Given the description of an element on the screen output the (x, y) to click on. 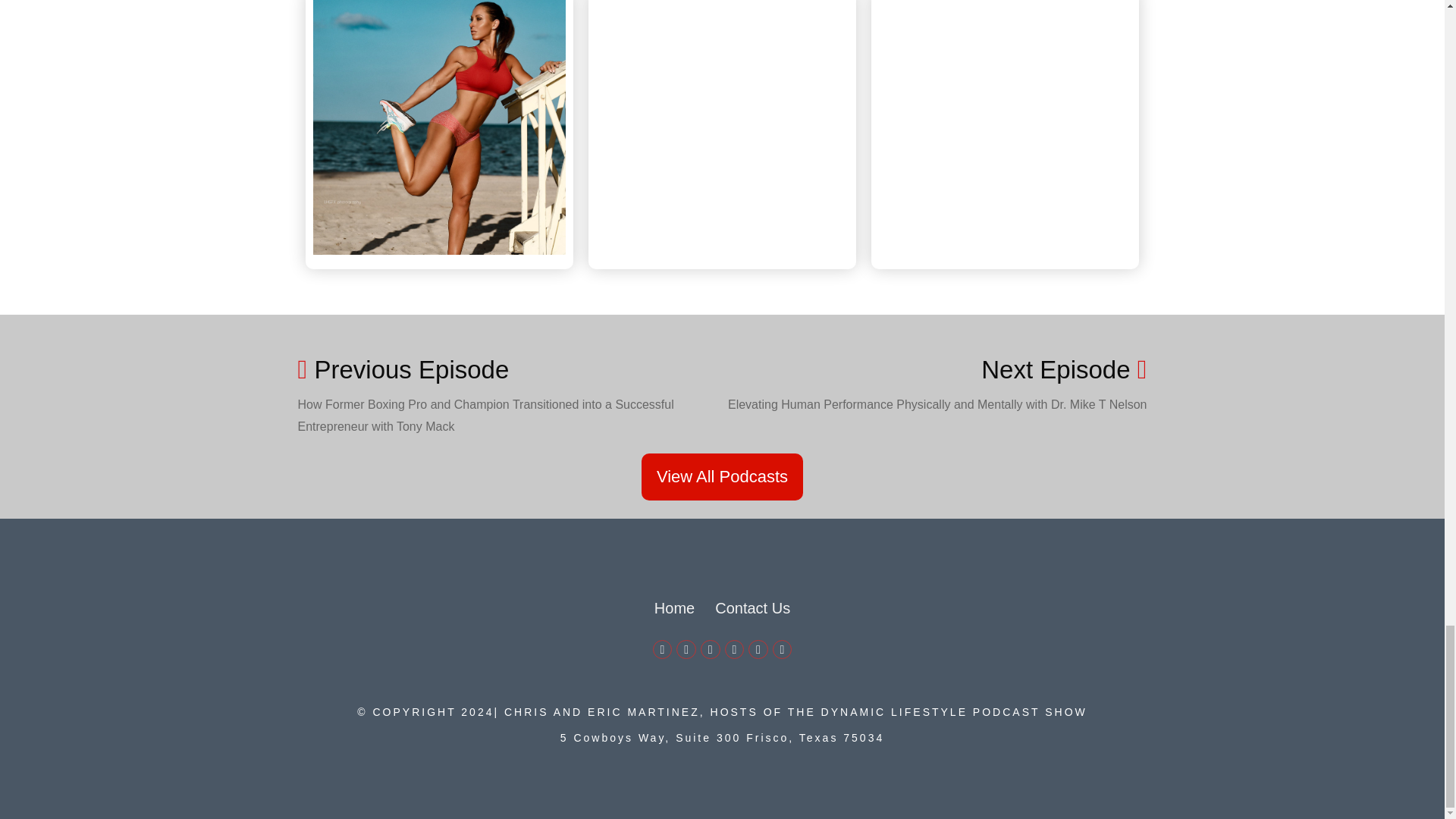
Contact Us (752, 608)
Soundcloud (782, 649)
Next Episode (1064, 369)
Facebook-f (662, 649)
Linkedin-in (710, 649)
Home (673, 608)
Youtube (734, 649)
Twitter (686, 649)
View All Podcasts (722, 476)
